Given the description of an element on the screen output the (x, y) to click on. 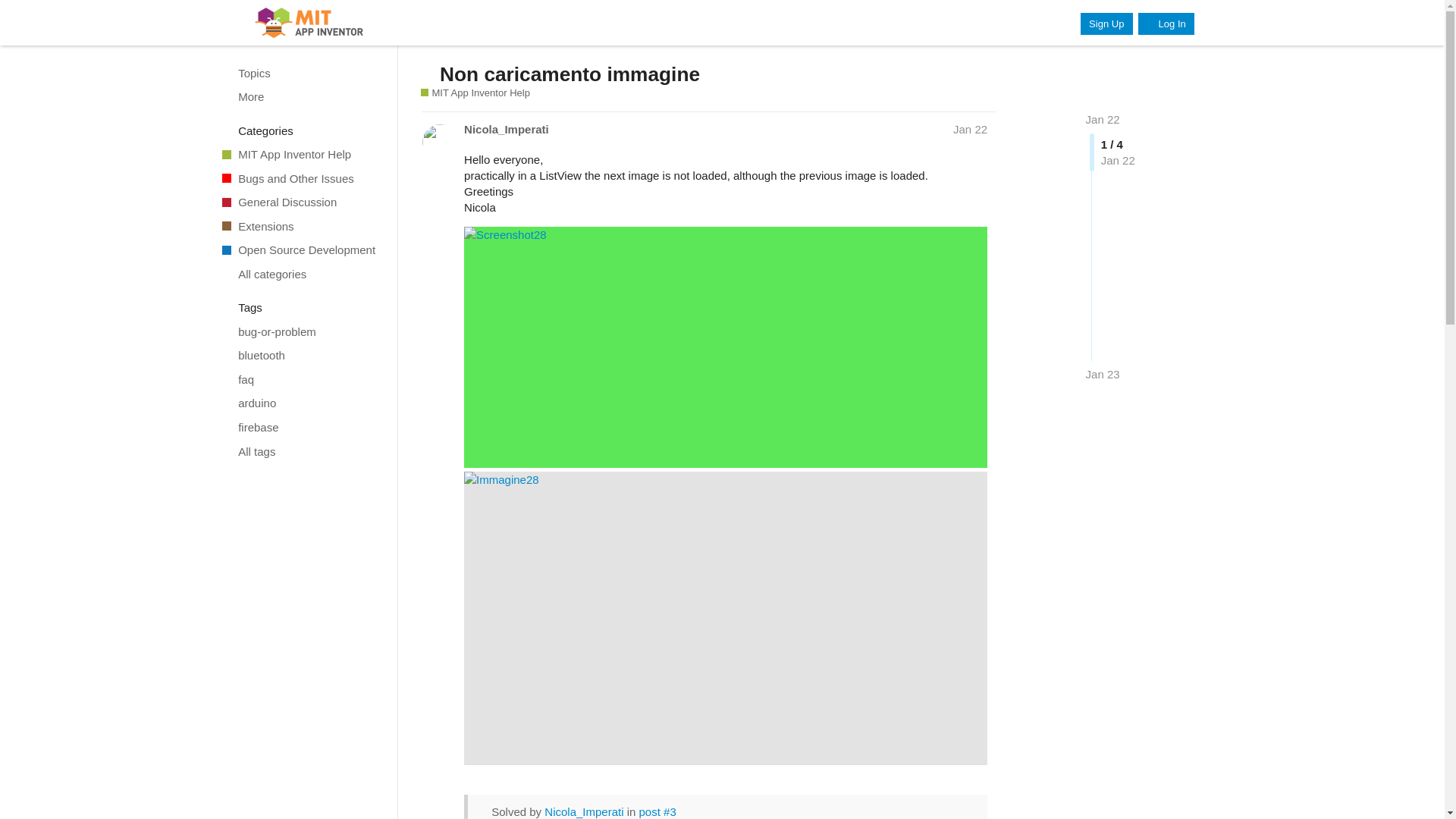
Jan 23 (1102, 374)
Non caricamento immagine (569, 74)
Jan 22 (1102, 119)
More (301, 96)
arduino (301, 403)
Log In (1165, 24)
Report potential issues with App Inventor in this category. (301, 178)
This topic is closed; it no longer accepts new replies (427, 73)
firebase (301, 427)
Sign Up (1106, 24)
Extensions (301, 225)
Keyboard Shortcuts (378, 805)
All topics (301, 72)
